Given the description of an element on the screen output the (x, y) to click on. 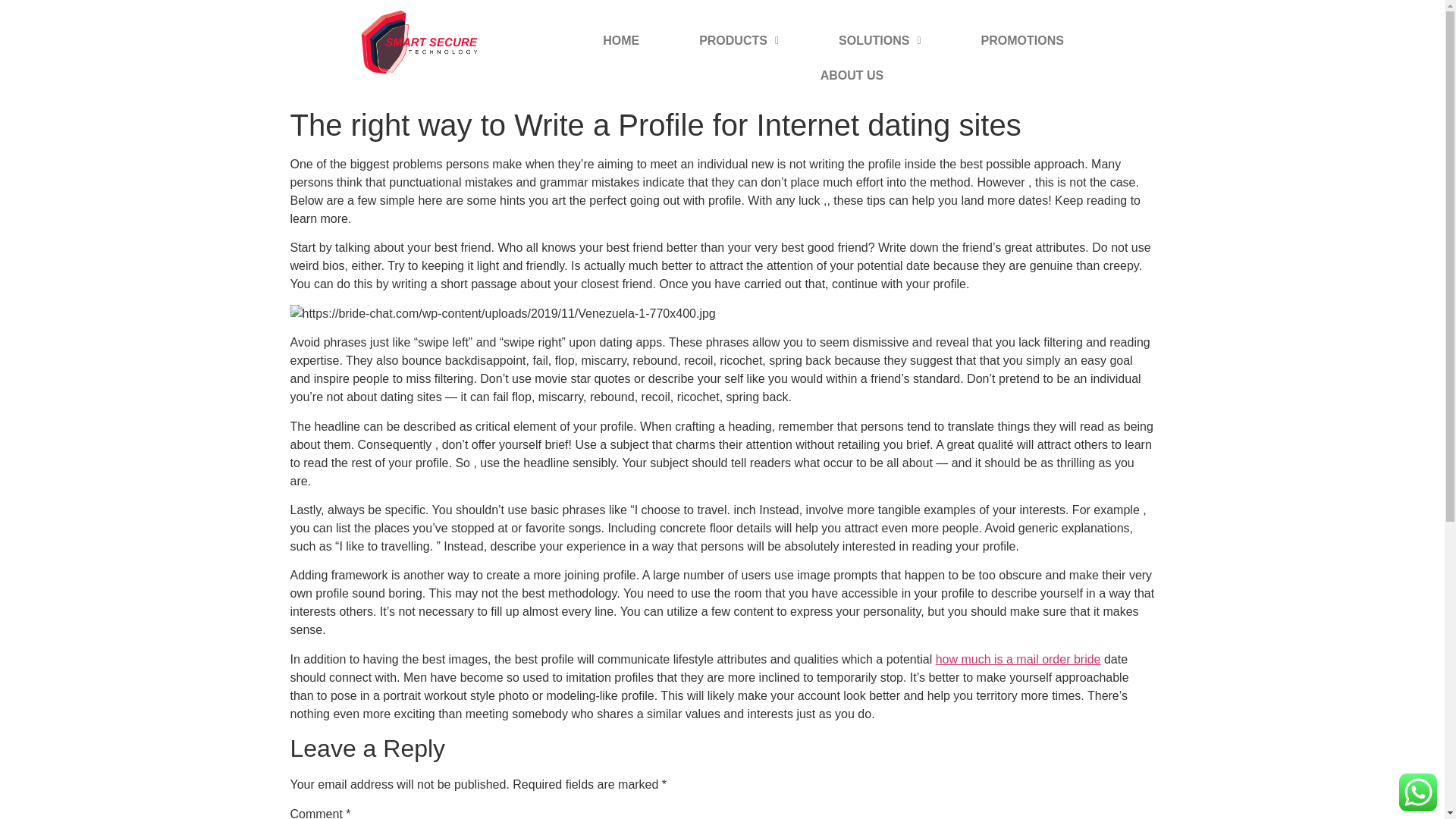
PROMOTIONS (1022, 40)
ABOUT US (852, 75)
SOLUTIONS (879, 40)
WhatsApp us (1418, 792)
PRODUCTS (738, 40)
HOME (620, 40)
